Given the description of an element on the screen output the (x, y) to click on. 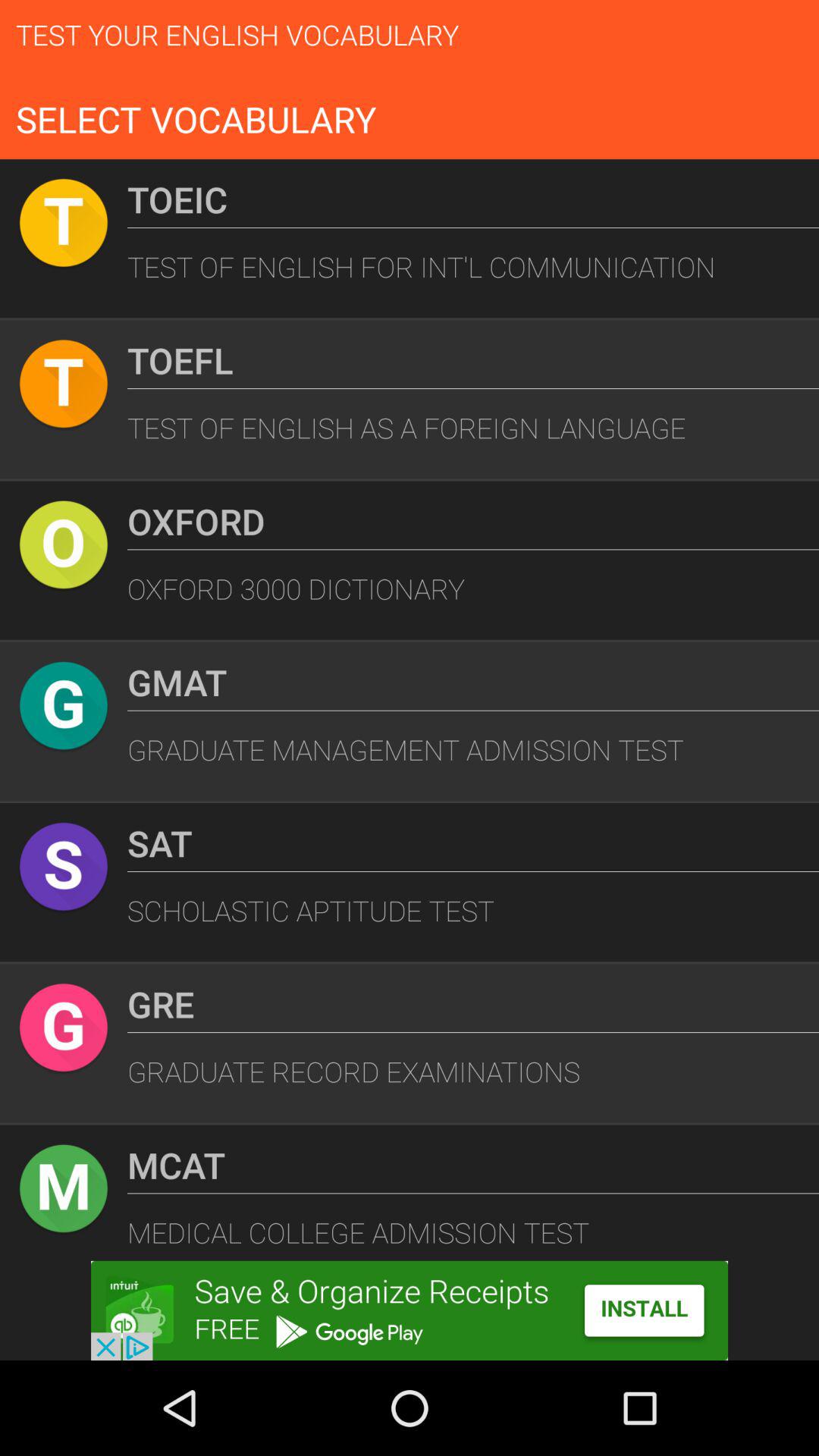
know about the advertisement (409, 1310)
